Given the description of an element on the screen output the (x, y) to click on. 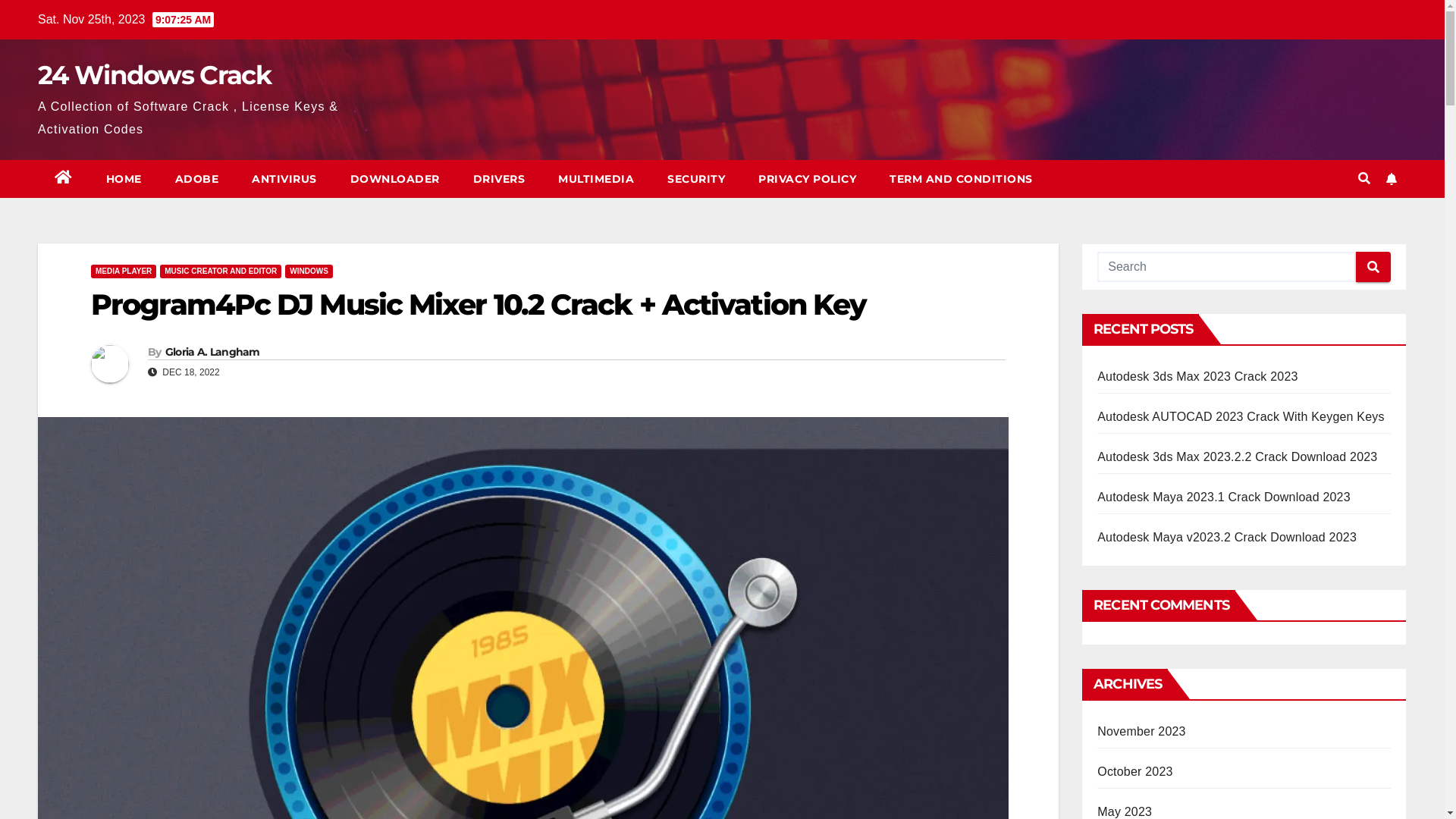
MEDIA PLAYER Element type: text (123, 271)
Autodesk AUTOCAD 2023 Crack With Keygen Keys Element type: text (1240, 416)
MUSIC CREATOR AND EDITOR Element type: text (220, 271)
SECURITY Element type: text (695, 178)
Program4Pc DJ Music Mixer 10.2 Crack + Activation Key Element type: text (478, 304)
DOWNLOADER Element type: text (394, 178)
24 Windows Crack Element type: text (153, 75)
ADOBE Element type: text (196, 178)
May 2023 Element type: text (1124, 811)
Autodesk Maya 2023.1 Crack Download 2023 Element type: text (1223, 496)
Autodesk 3ds Max 2023 Crack 2023 Element type: text (1197, 376)
ANTIVIRUS Element type: text (284, 178)
WINDOWS Element type: text (308, 271)
MULTIMEDIA Element type: text (595, 178)
November 2023 Element type: text (1141, 730)
TERM AND CONDITIONS Element type: text (960, 178)
October 2023 Element type: text (1134, 771)
Autodesk Maya v2023.2 Crack Download 2023 Element type: text (1226, 536)
HOME Element type: text (123, 178)
DRIVERS Element type: text (499, 178)
Autodesk 3ds Max 2023.2.2 Crack Download 2023 Element type: text (1237, 456)
Gloria A. Langham Element type: text (212, 351)
PRIVACY POLICY Element type: text (806, 178)
